Given the description of an element on the screen output the (x, y) to click on. 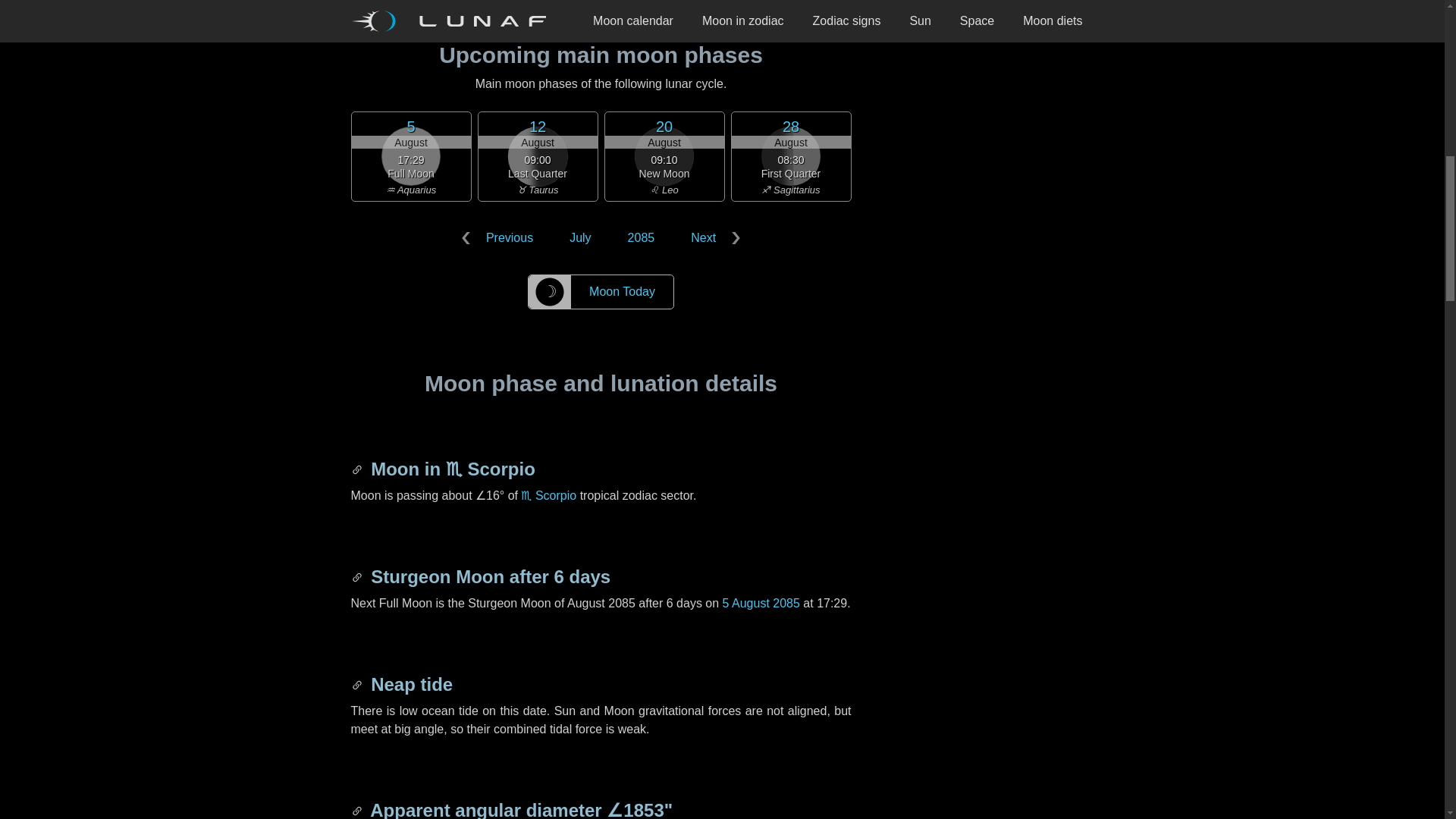
Next (712, 238)
2085 (641, 238)
5 August 2085 (760, 603)
Previous (500, 238)
July (579, 238)
